Given the description of an element on the screen output the (x, y) to click on. 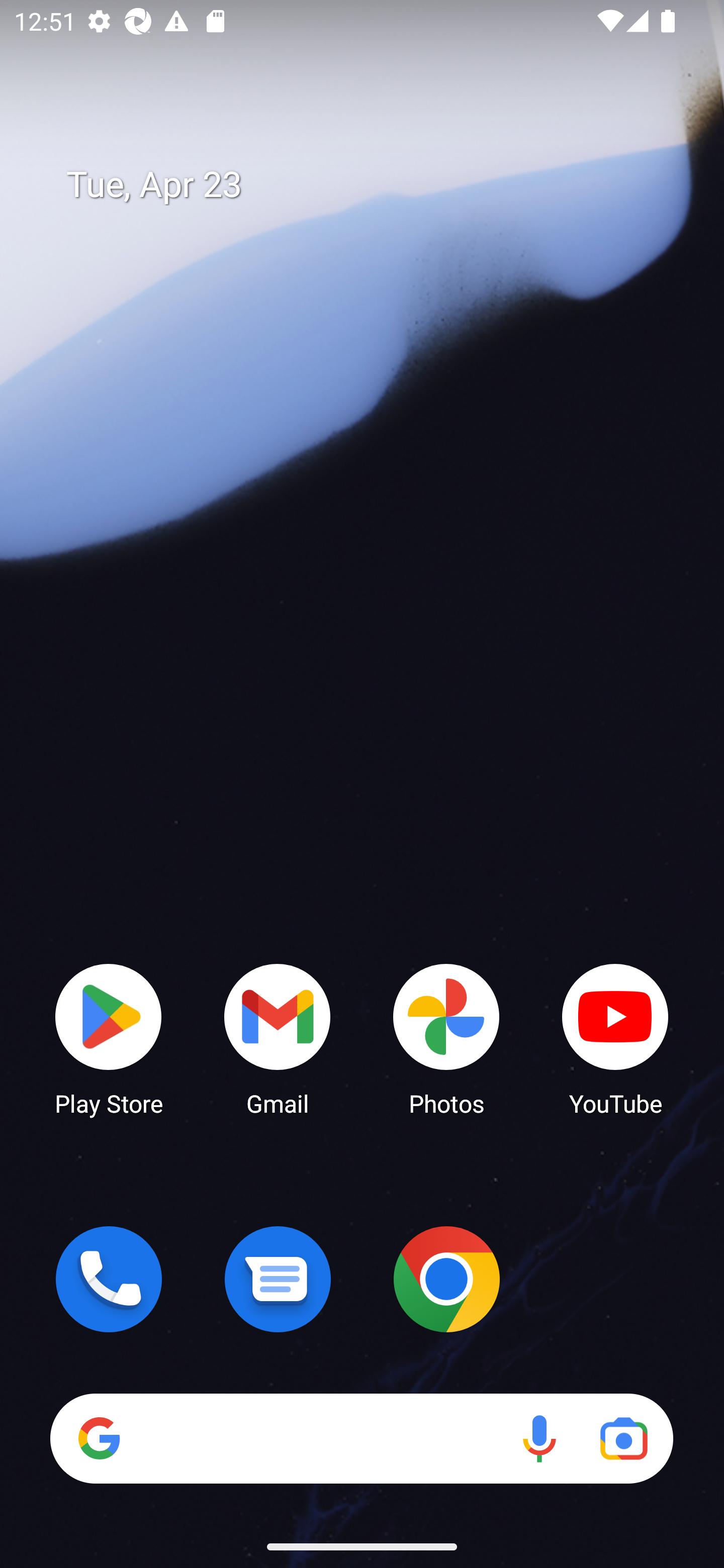
Tue, Apr 23 (375, 184)
Play Store (108, 1038)
Gmail (277, 1038)
Photos (445, 1038)
YouTube (615, 1038)
Phone (108, 1279)
Messages (277, 1279)
Chrome (446, 1279)
Search Voice search Google Lens (361, 1438)
Voice search (539, 1438)
Google Lens (623, 1438)
